Given the description of an element on the screen output the (x, y) to click on. 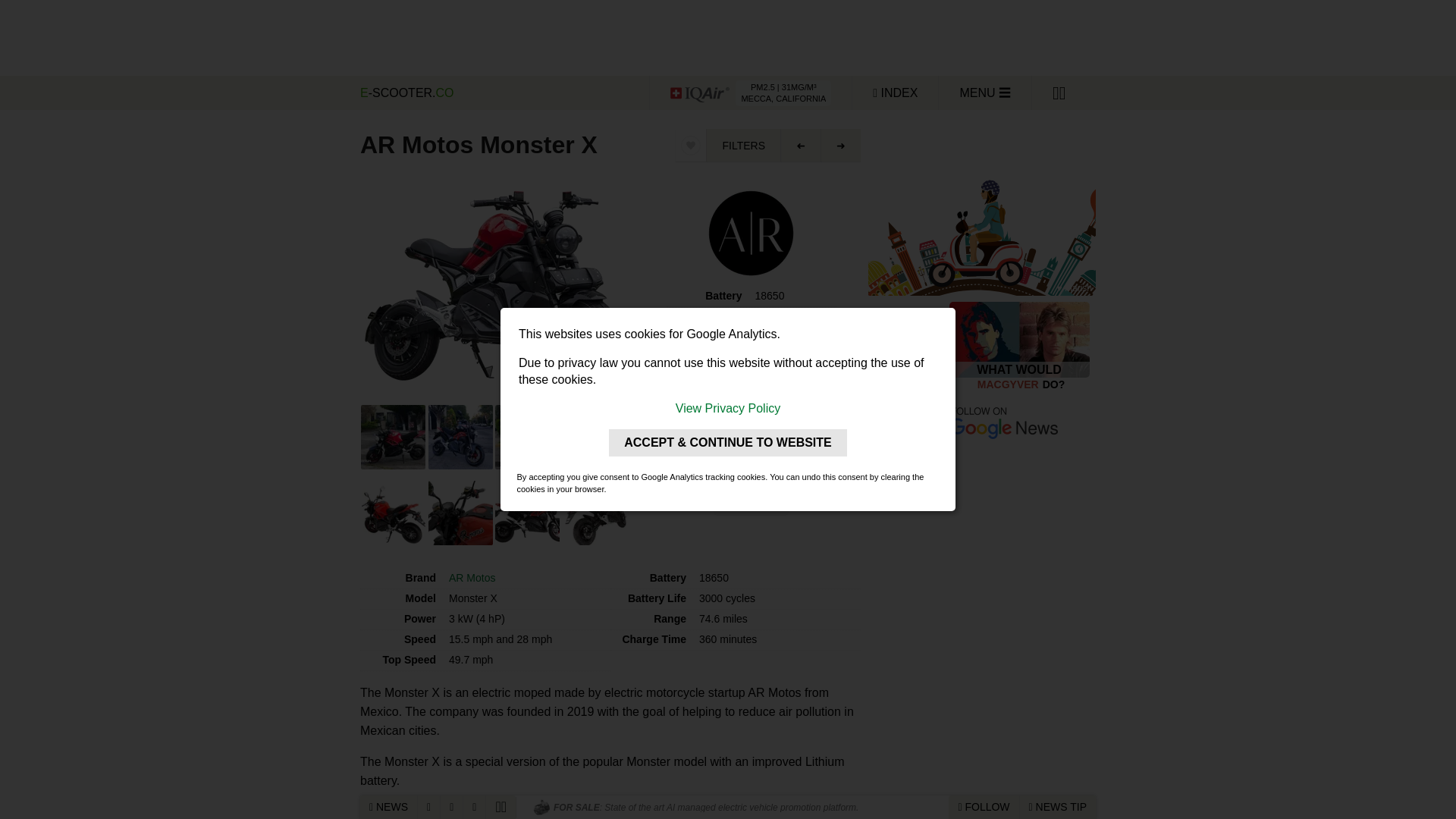
View Privacy Policy (727, 408)
AR Motos (471, 577)
FILTERS (743, 144)
Pai TS5 Lite (800, 144)
Honda DAX e: (840, 144)
Mecca, California (750, 92)
Purchase Info (751, 430)
Highlighed News (428, 807)
New (452, 807)
E-SCOOTER.CO (501, 92)
